Given the description of an element on the screen output the (x, y) to click on. 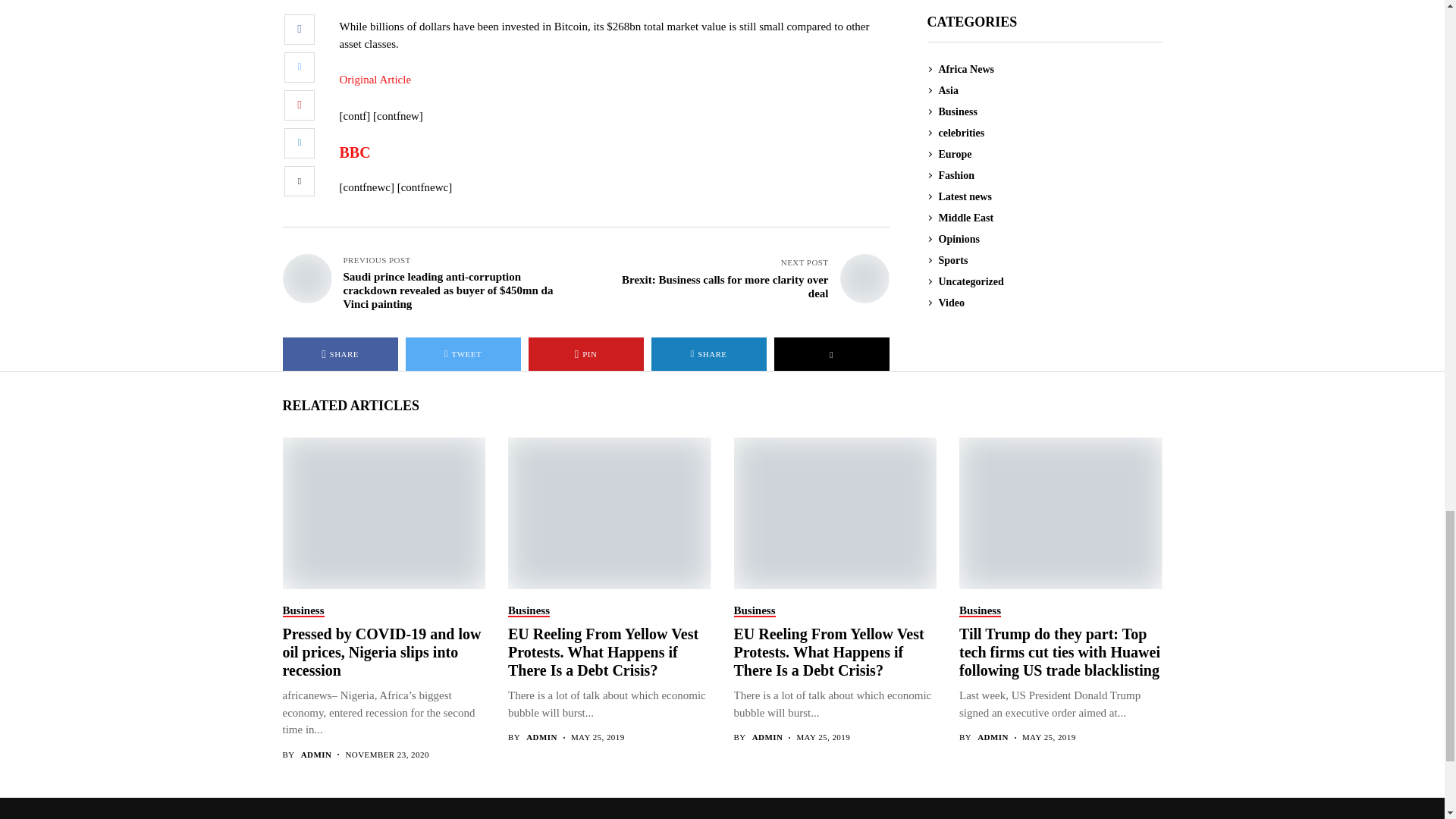
Posts by admin (316, 755)
Posts by admin (767, 737)
Posts by admin (541, 737)
Posts by admin (992, 737)
